Given the description of an element on the screen output the (x, y) to click on. 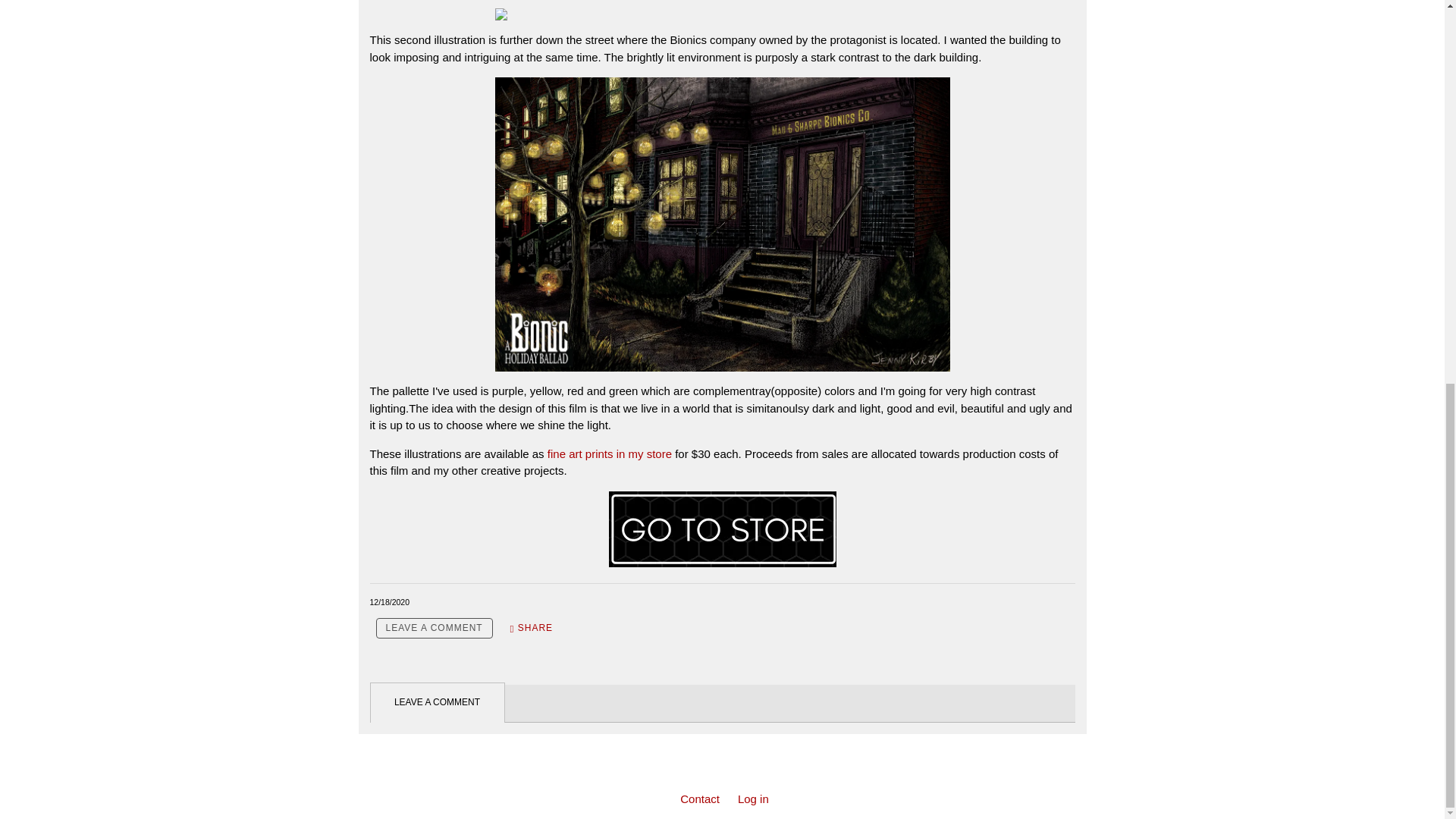
Contact (699, 798)
Leave a comment (434, 628)
Share Let There Be Lights!!! (531, 628)
fine art prints in my store (607, 453)
LEAVE A COMMENT (434, 628)
December 18, 2020 13:04 (389, 601)
SHARE (531, 628)
Log in (753, 798)
